Given the description of an element on the screen output the (x, y) to click on. 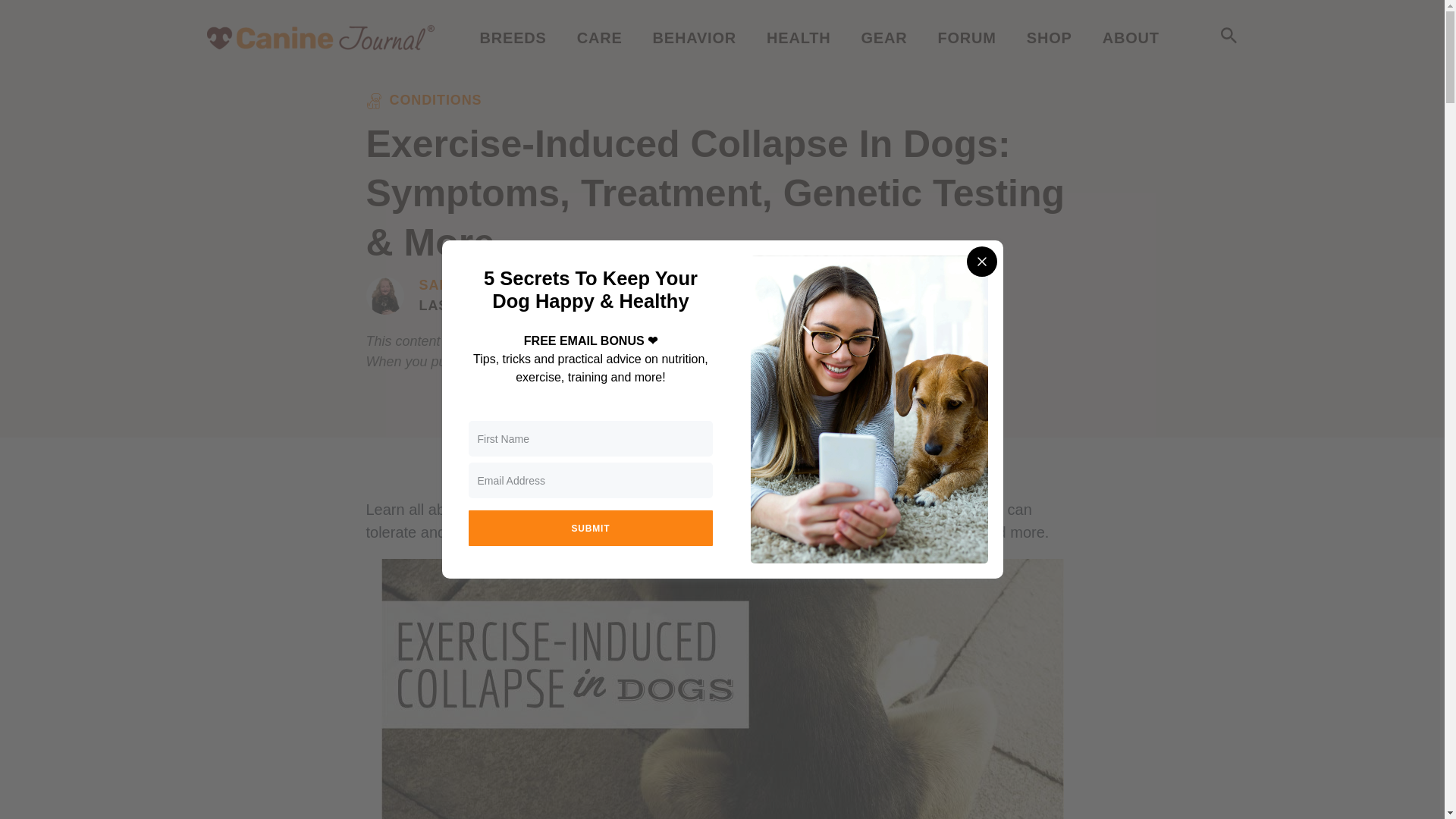
BREEDS (512, 37)
Posts by Sally Jones (469, 285)
Share on Pinterest (887, 467)
Share on Print (561, 467)
Share on Reddit (808, 467)
ABOUT (1130, 37)
BEHAVIOR (694, 37)
Share on Copy Link (638, 467)
Share on Email (494, 467)
FORUM (966, 37)
Share on Facebook (727, 467)
HEALTH (798, 37)
